Given the description of an element on the screen output the (x, y) to click on. 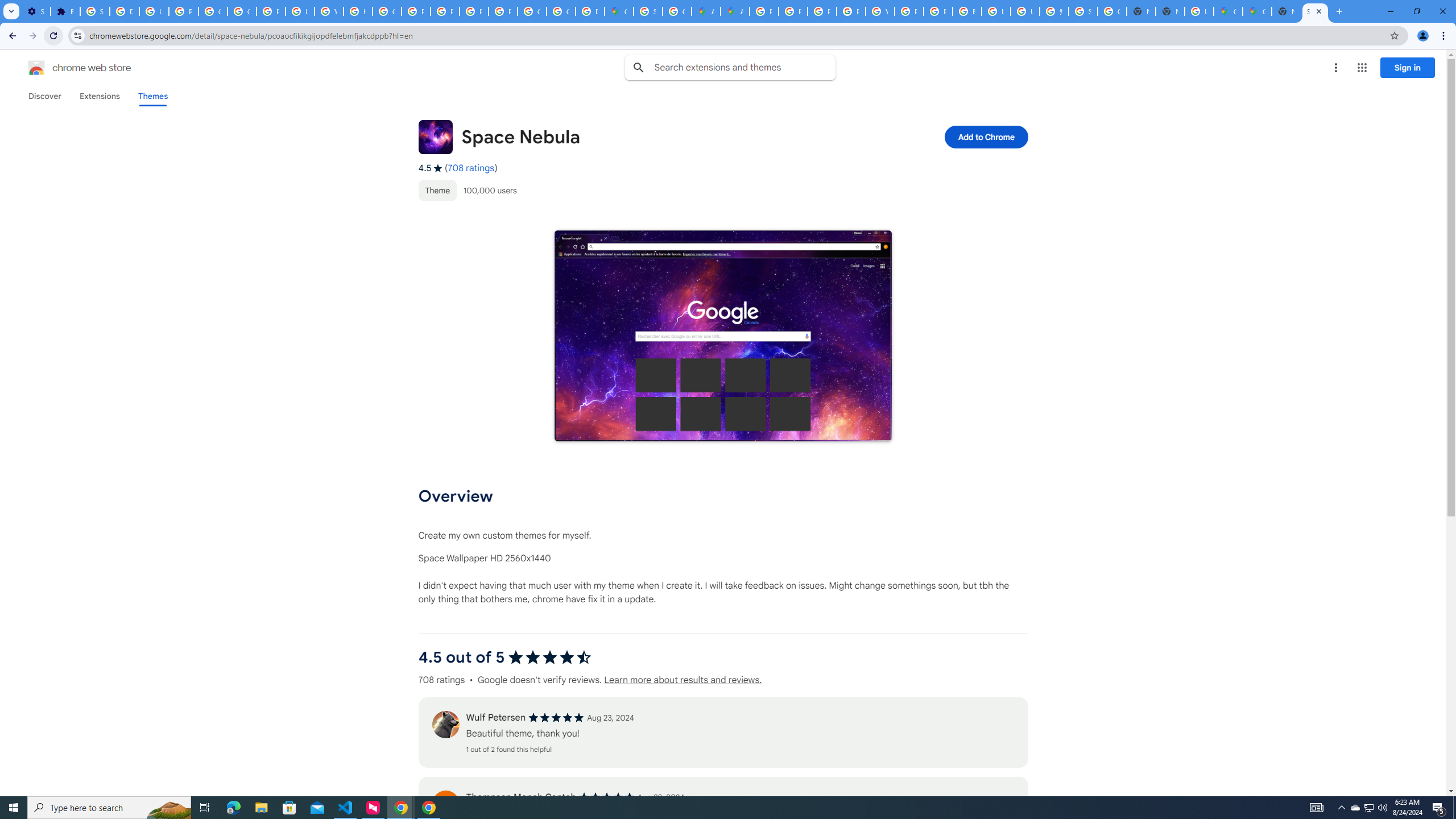
708 ratings (470, 167)
Google Account Help (212, 11)
Chrome Web Store logo (36, 67)
Review's profile picture (445, 804)
Item logo image for Space Nebula Space Nebula (645, 136)
Chrome Web Store logo chrome web store (67, 67)
https://scholar.google.com/ (357, 11)
Extensions (99, 95)
